Given the description of an element on the screen output the (x, y) to click on. 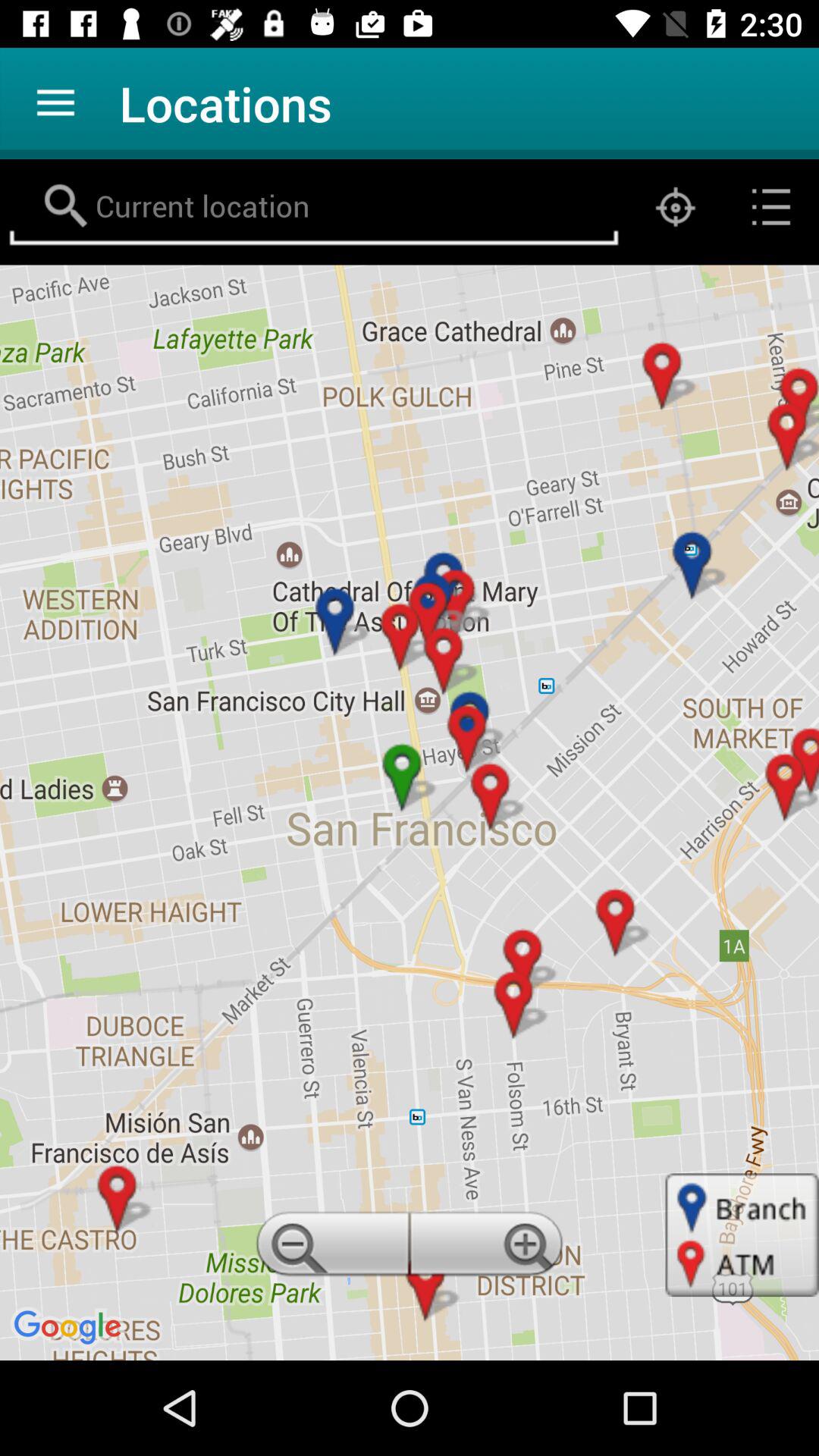
search location (313, 206)
